Given the description of an element on the screen output the (x, y) to click on. 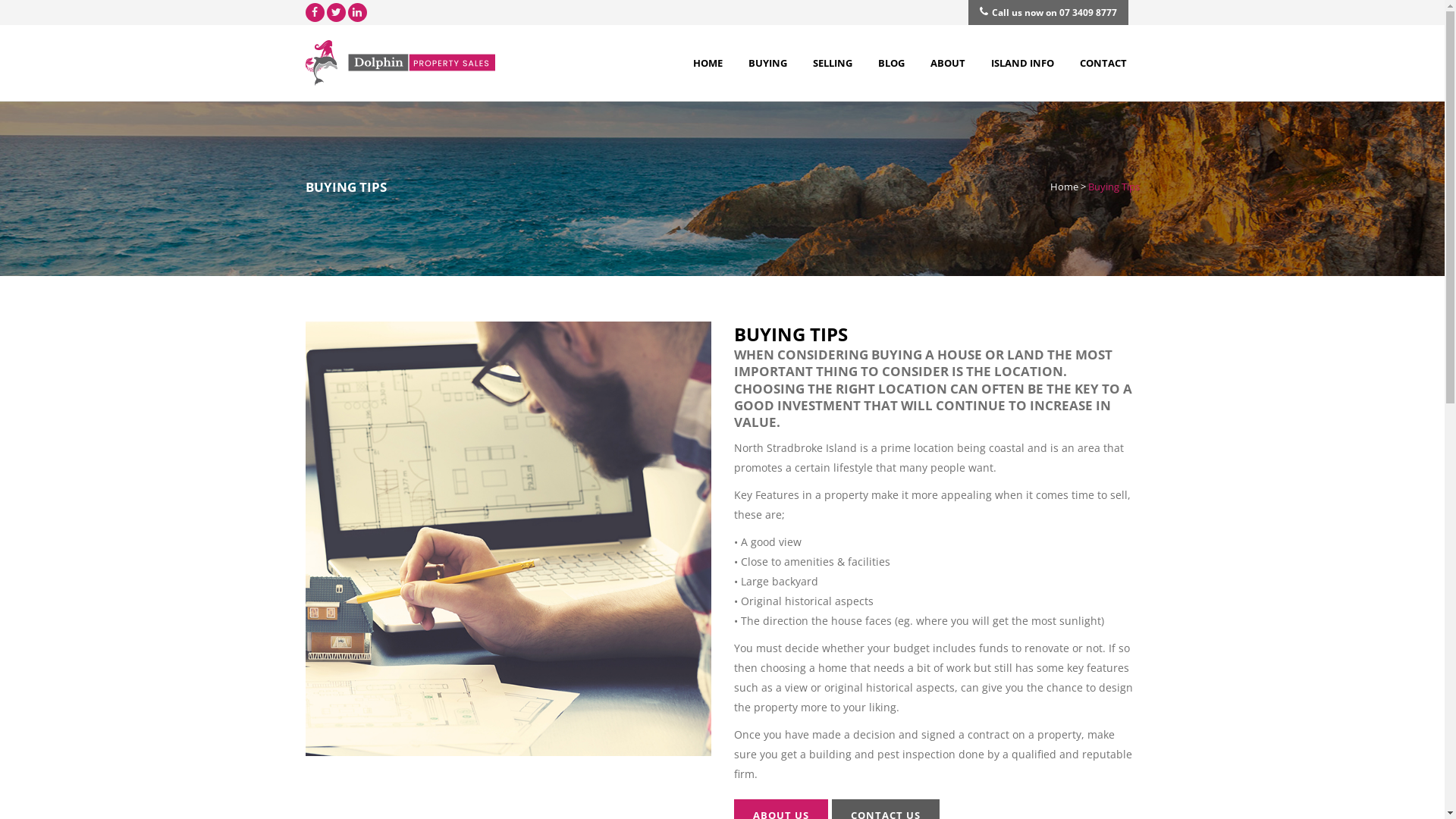
BLOG Element type: text (890, 62)
Home Element type: text (1063, 186)
BUYING Element type: text (767, 62)
CONTACT Element type: text (1102, 62)
ISLAND INFO Element type: text (1022, 62)
buying-tips Element type: hover (507, 538)
SELLING Element type: text (831, 62)
ABOUT Element type: text (947, 62)
Call us now on 07 3409 8777 Element type: text (1047, 12)
HOME Element type: text (706, 62)
